Given the description of an element on the screen output the (x, y) to click on. 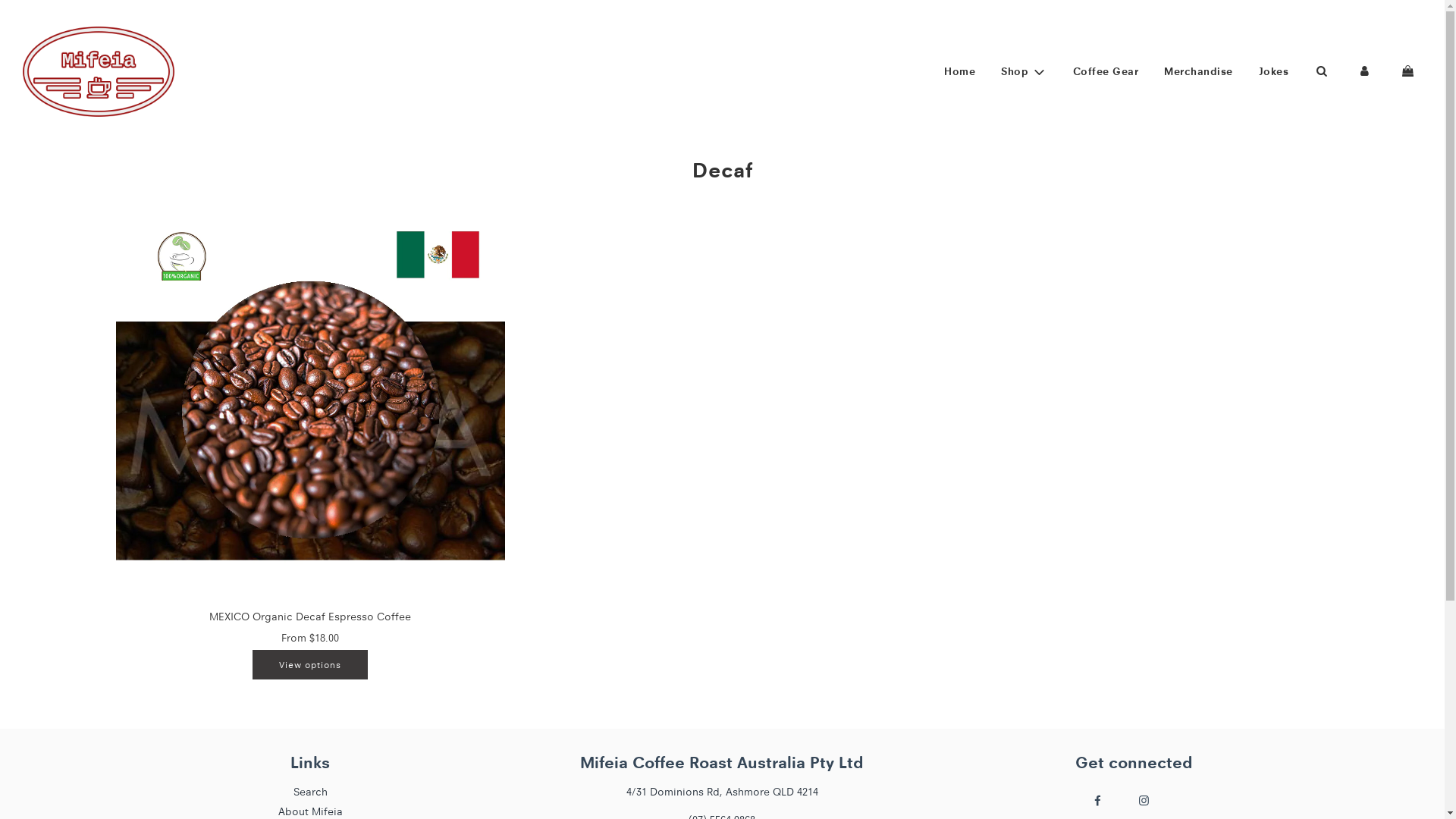
Coffee Gear Element type: text (1105, 71)
Shop Element type: text (1023, 71)
Home Element type: text (959, 71)
Jokes Element type: text (1272, 71)
About Mifeia Element type: text (310, 811)
Log in Element type: hover (1364, 71)
Search Element type: text (310, 791)
MEXICO Organic Decaf Espresso Coffee Element type: hover (309, 409)
From $18.00 Element type: text (309, 637)
MEXICO Organic Decaf Espresso Coffee Element type: text (310, 616)
Merchandise Element type: text (1198, 71)
View options Element type: text (309, 664)
